Given the description of an element on the screen output the (x, y) to click on. 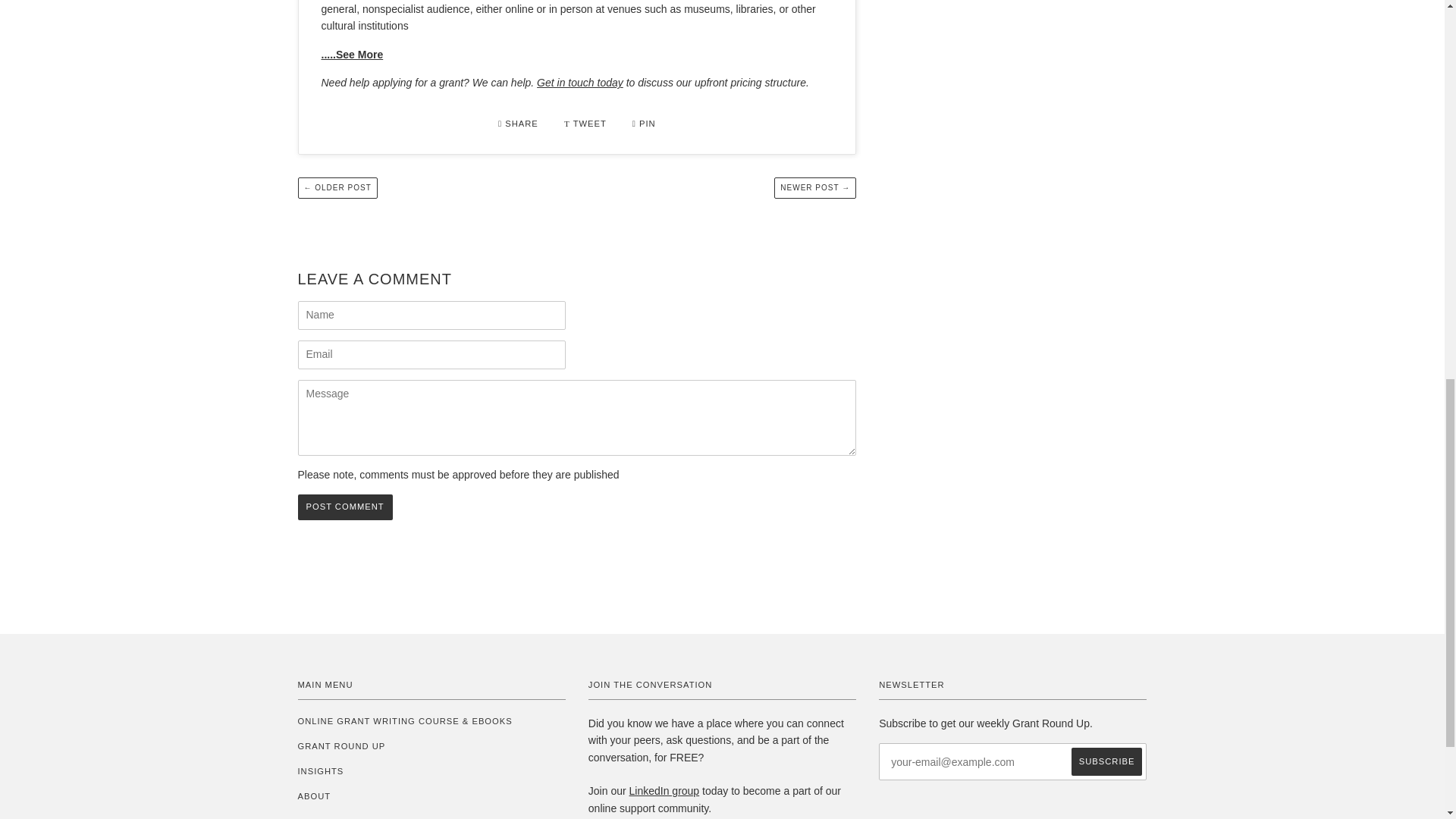
Post comment (344, 507)
PIN (643, 122)
Post comment (344, 507)
Get in touch today (580, 82)
SHARE (519, 122)
Subscribe (1106, 761)
.....See More (352, 54)
TWEET (587, 122)
